Given the description of an element on the screen output the (x, y) to click on. 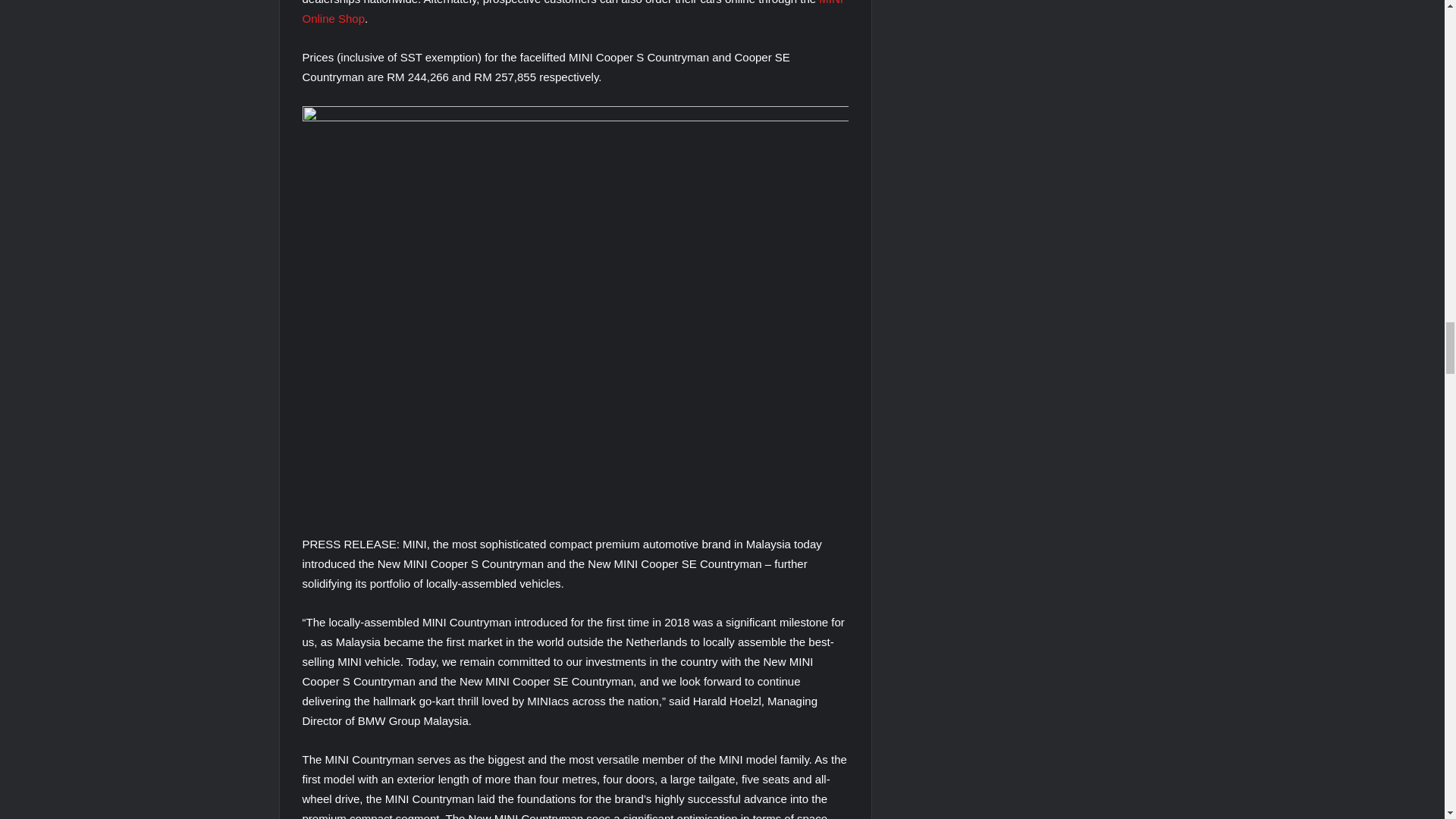
MINI Online Shop (572, 12)
